Given the description of an element on the screen output the (x, y) to click on. 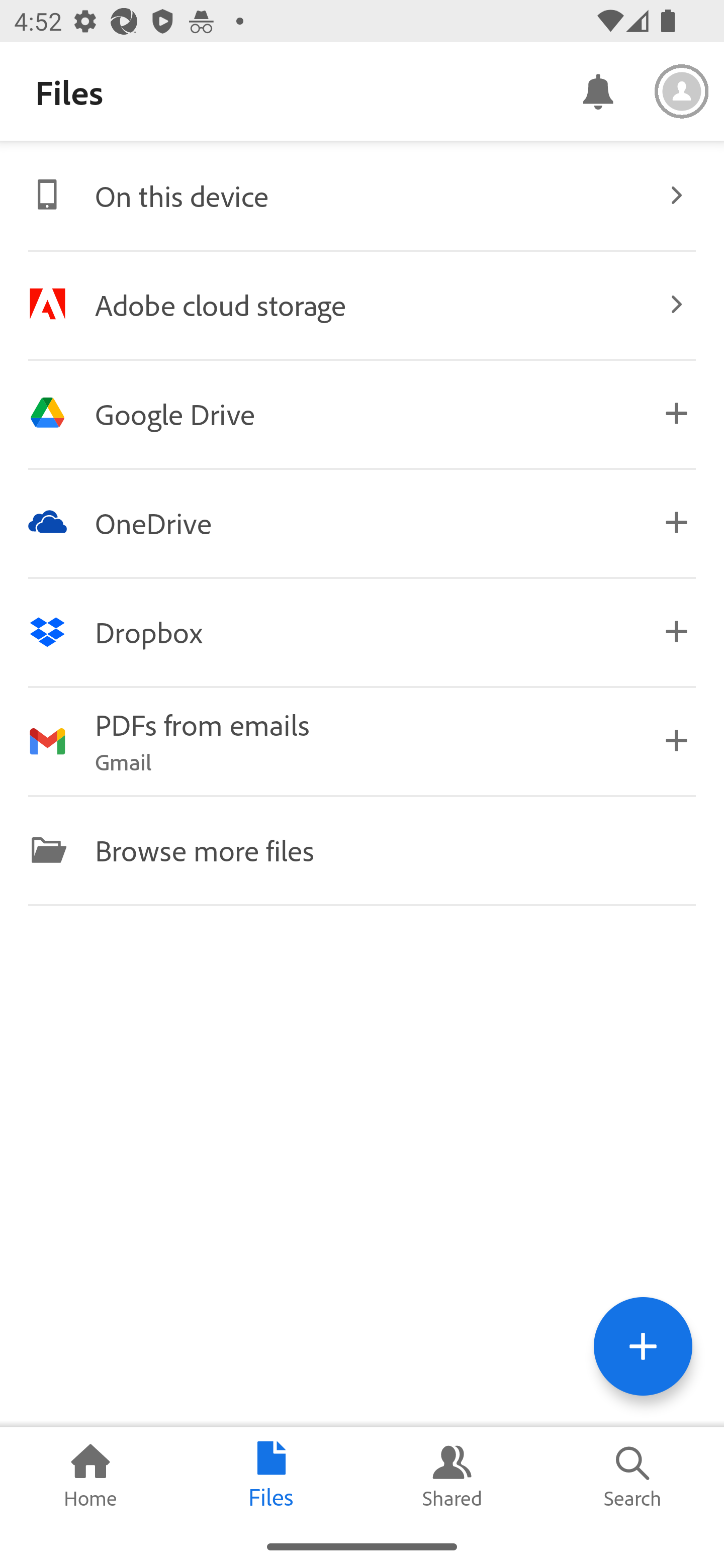
Notifications (597, 90)
Settings (681, 91)
Image On this device (362, 195)
Image Adobe cloud storage (362, 304)
Image Google Drive (362, 413)
Image OneDrive (362, 522)
Image Dropbox (362, 631)
Image PDFs from emails Gmail (362, 740)
Image Browse more files (362, 849)
Tools (642, 1345)
Home (90, 1475)
Files (271, 1475)
Shared (452, 1475)
Search (633, 1475)
